Given the description of an element on the screen output the (x, y) to click on. 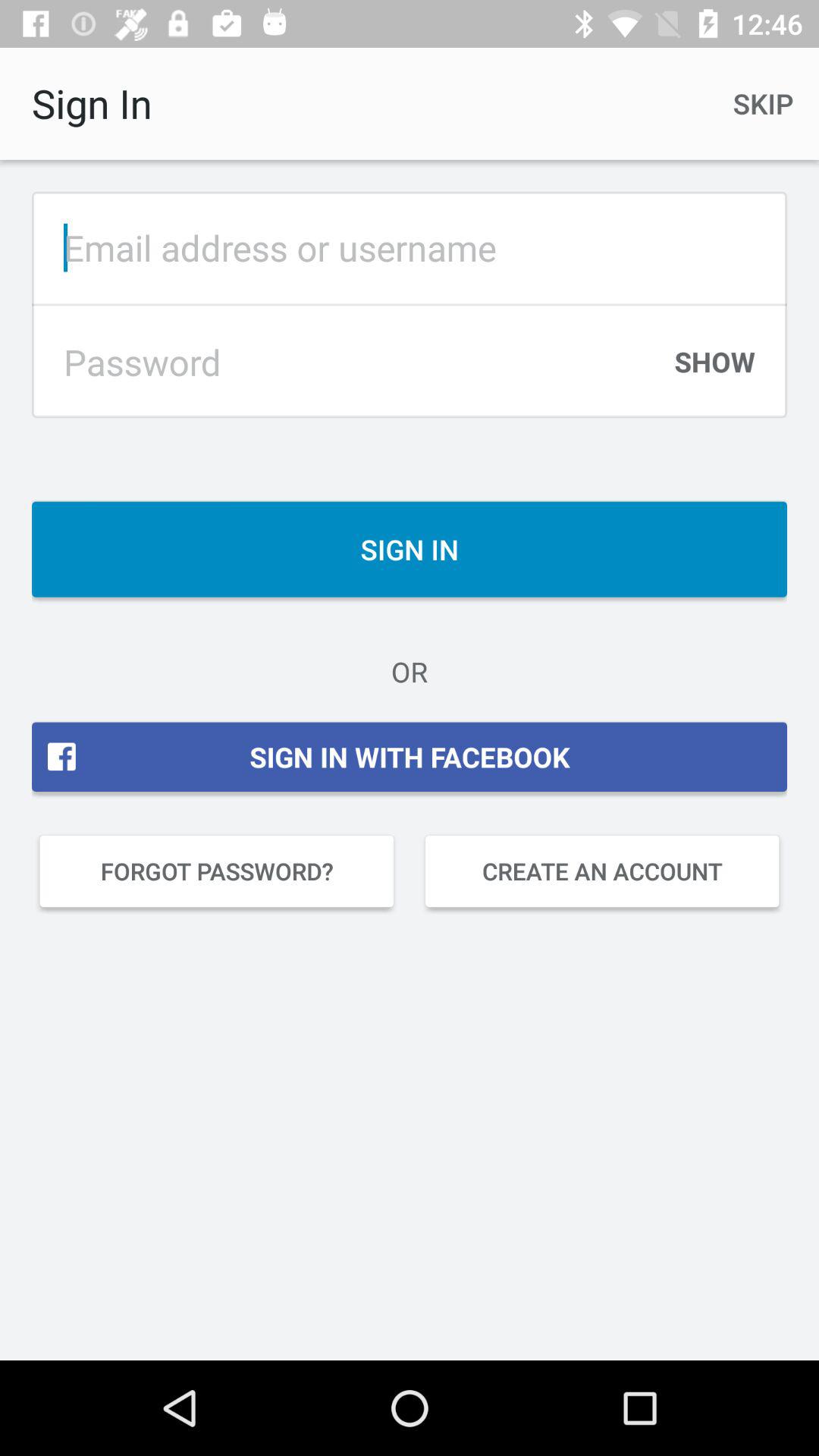
turn on icon to the left of the create an account icon (216, 871)
